Given the description of an element on the screen output the (x, y) to click on. 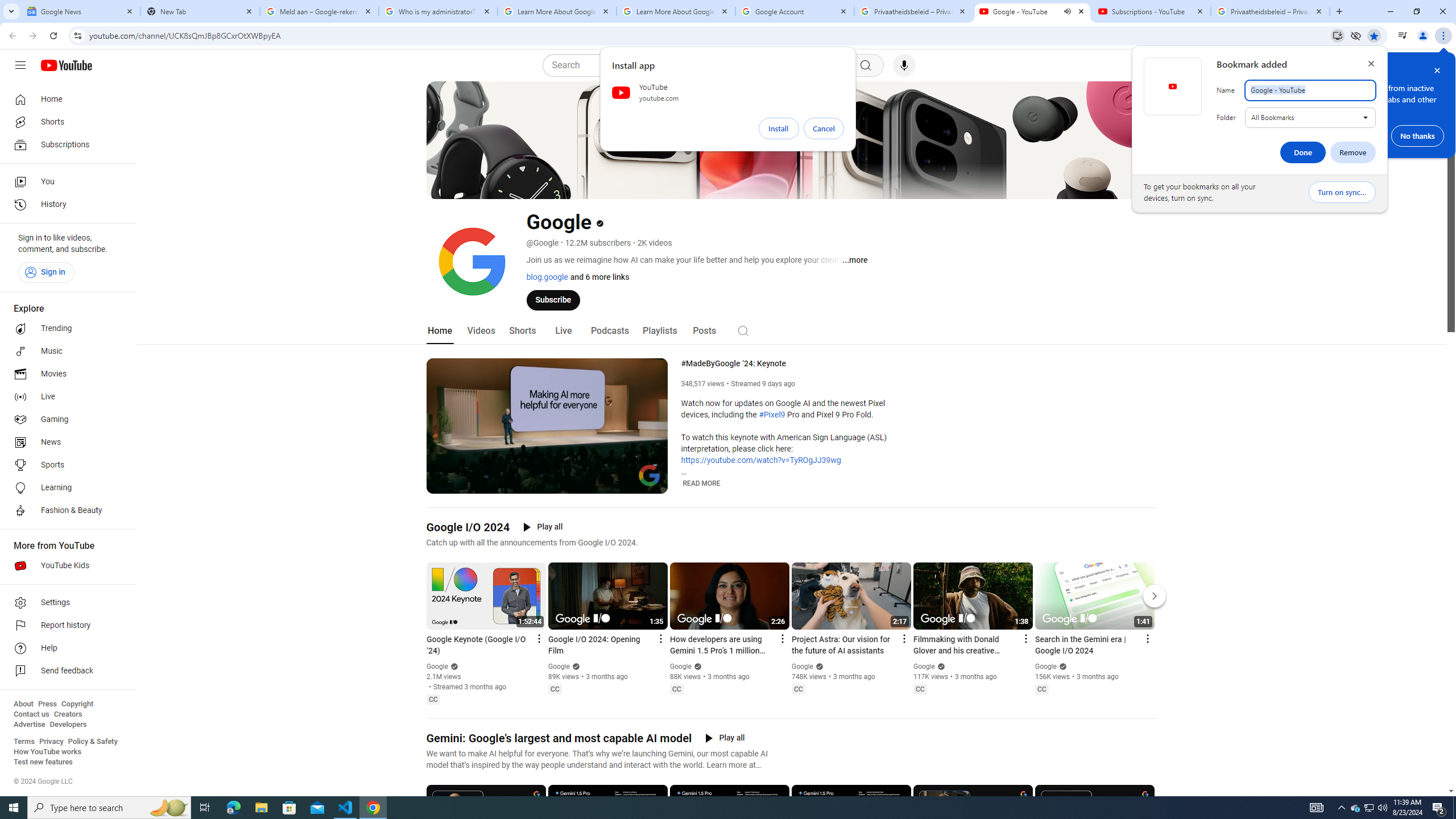
How YouTube works (47, 751)
Install (778, 128)
Play all (724, 738)
Mute (m) (463, 483)
Copyright (77, 703)
Cancel (823, 128)
Learning (64, 487)
Google Chrome - 1 running window (373, 807)
No thanks (1417, 135)
Playlists (659, 330)
Folder (1309, 117)
